Given the description of an element on the screen output the (x, y) to click on. 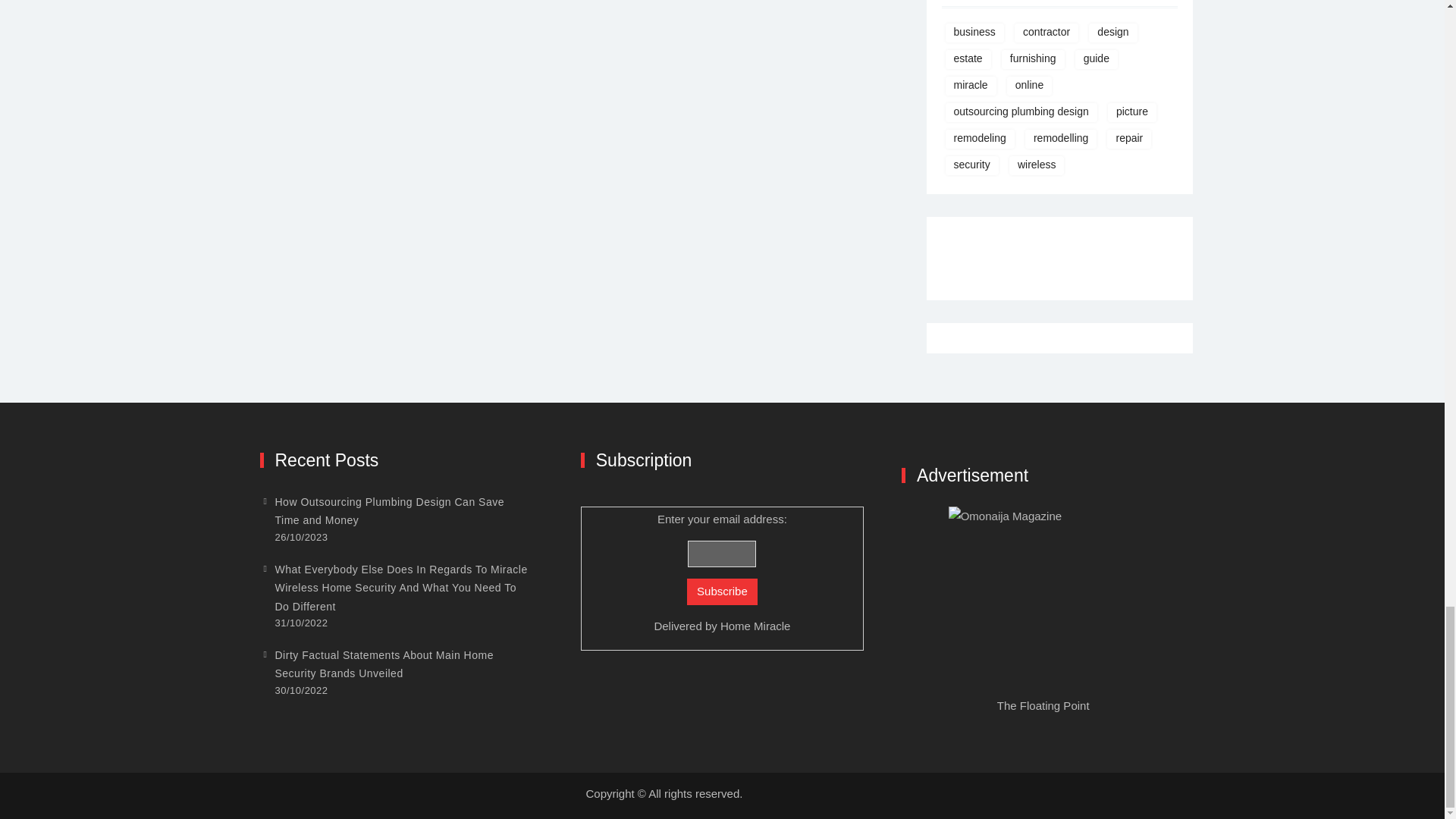
Subscribe (722, 591)
Omonaija Magazine (1043, 601)
